Given the description of an element on the screen output the (x, y) to click on. 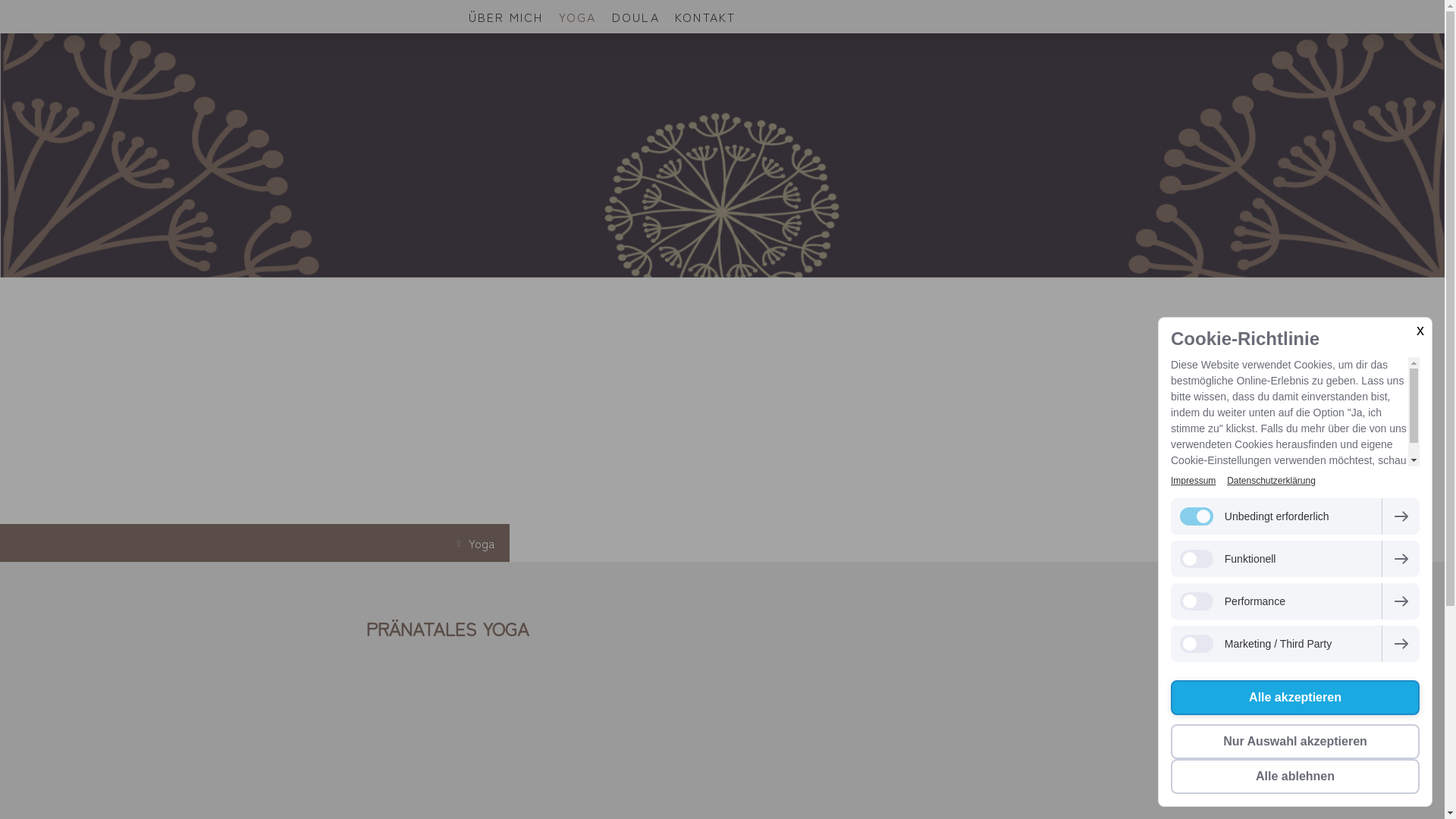
KONTAKT Element type: text (705, 16)
YOGA Element type: text (577, 16)
Alle akzeptieren Element type: text (1294, 697)
Yoga Element type: text (477, 542)
Nur Auswahl akzeptieren Element type: text (1294, 741)
Alle ablehnen Element type: text (1294, 776)
DOULA Element type: text (635, 16)
Impressum Element type: text (1192, 480)
